Given the description of an element on the screen output the (x, y) to click on. 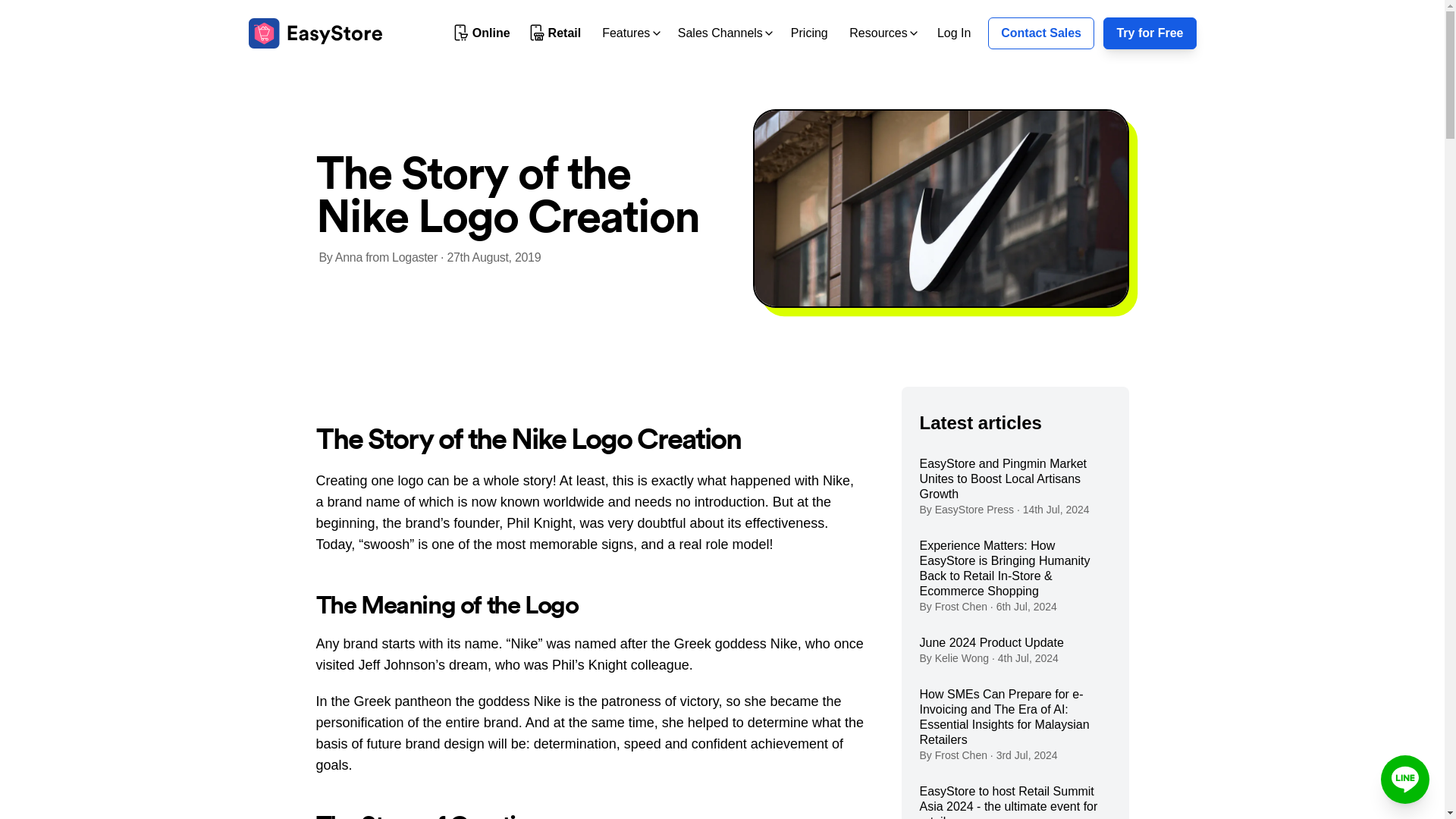
Contact Sales (1041, 33)
Try for Free (1149, 33)
Log In (954, 32)
Retail (555, 33)
Pricing (809, 32)
Online (483, 33)
